Given the description of an element on the screen output the (x, y) to click on. 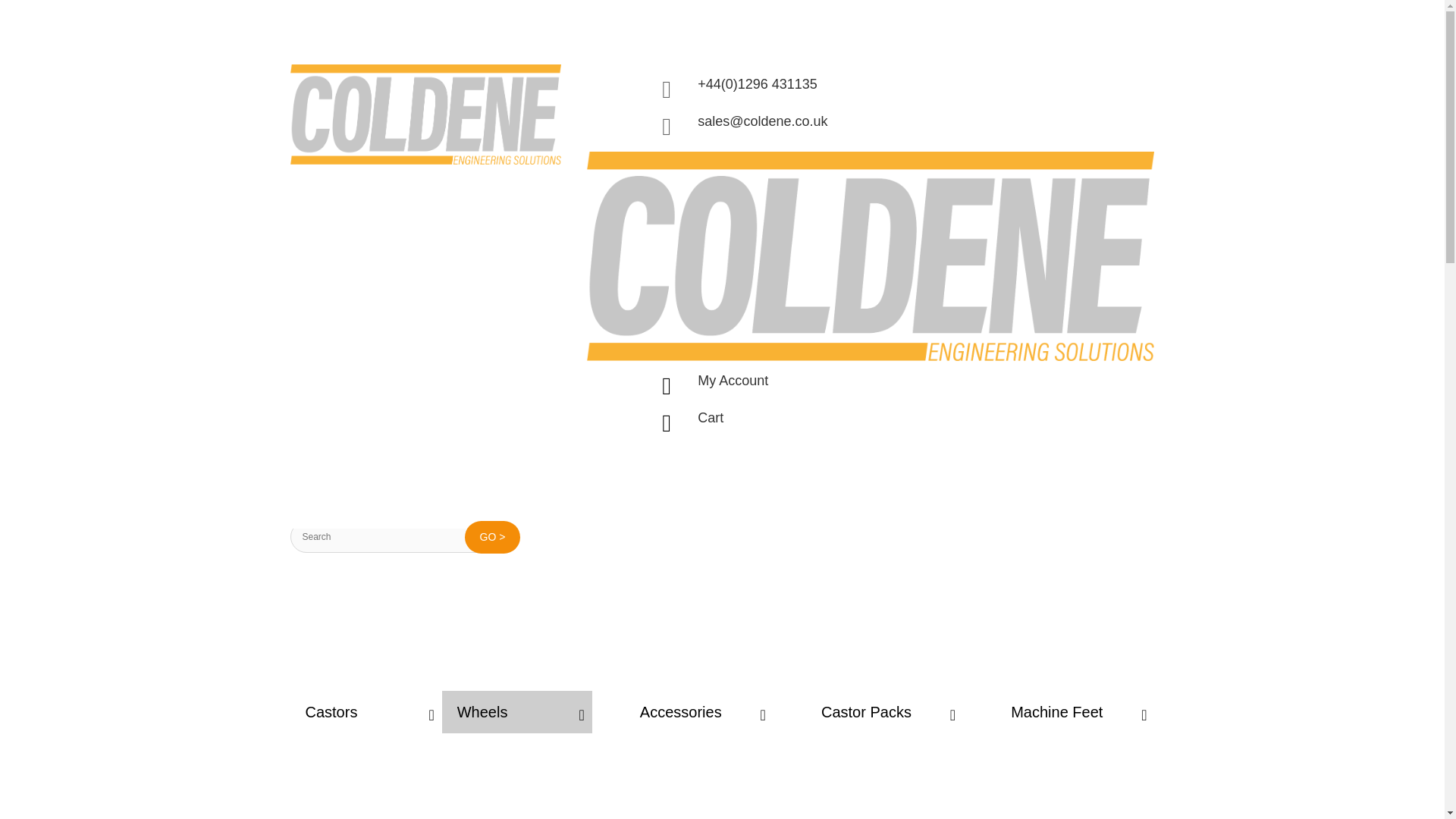
Wheels (517, 712)
My Account (721, 712)
COLDENE CASTORS LOGO (732, 380)
Cart (870, 256)
Follow on LinkedIn (710, 417)
COLDENE CASTORS LOGO (1111, 459)
Follow on Youtube (424, 114)
Castors (1141, 459)
